Given the description of an element on the screen output the (x, y) to click on. 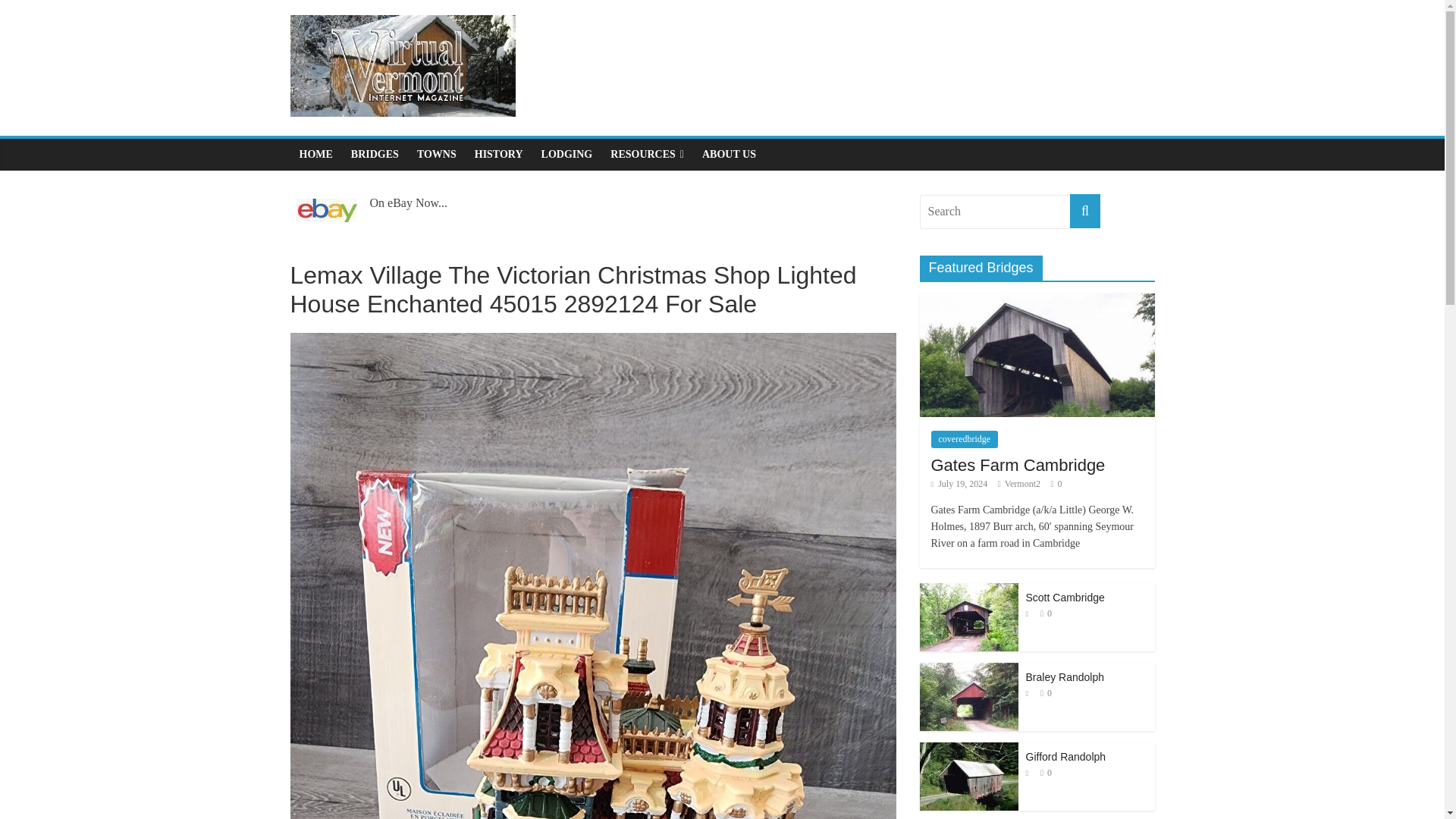
HISTORY (498, 154)
0 (1048, 692)
coveredbridge (964, 438)
TOWNS (436, 154)
Scott Cambridge (967, 617)
Braley Randolph (1064, 676)
Scott Cambridge (1064, 597)
0 (1060, 483)
July 19, 2024 (959, 483)
Gifford Randolph (1065, 756)
BRIDGES (374, 154)
ABOUT US (729, 154)
